Given the description of an element on the screen output the (x, y) to click on. 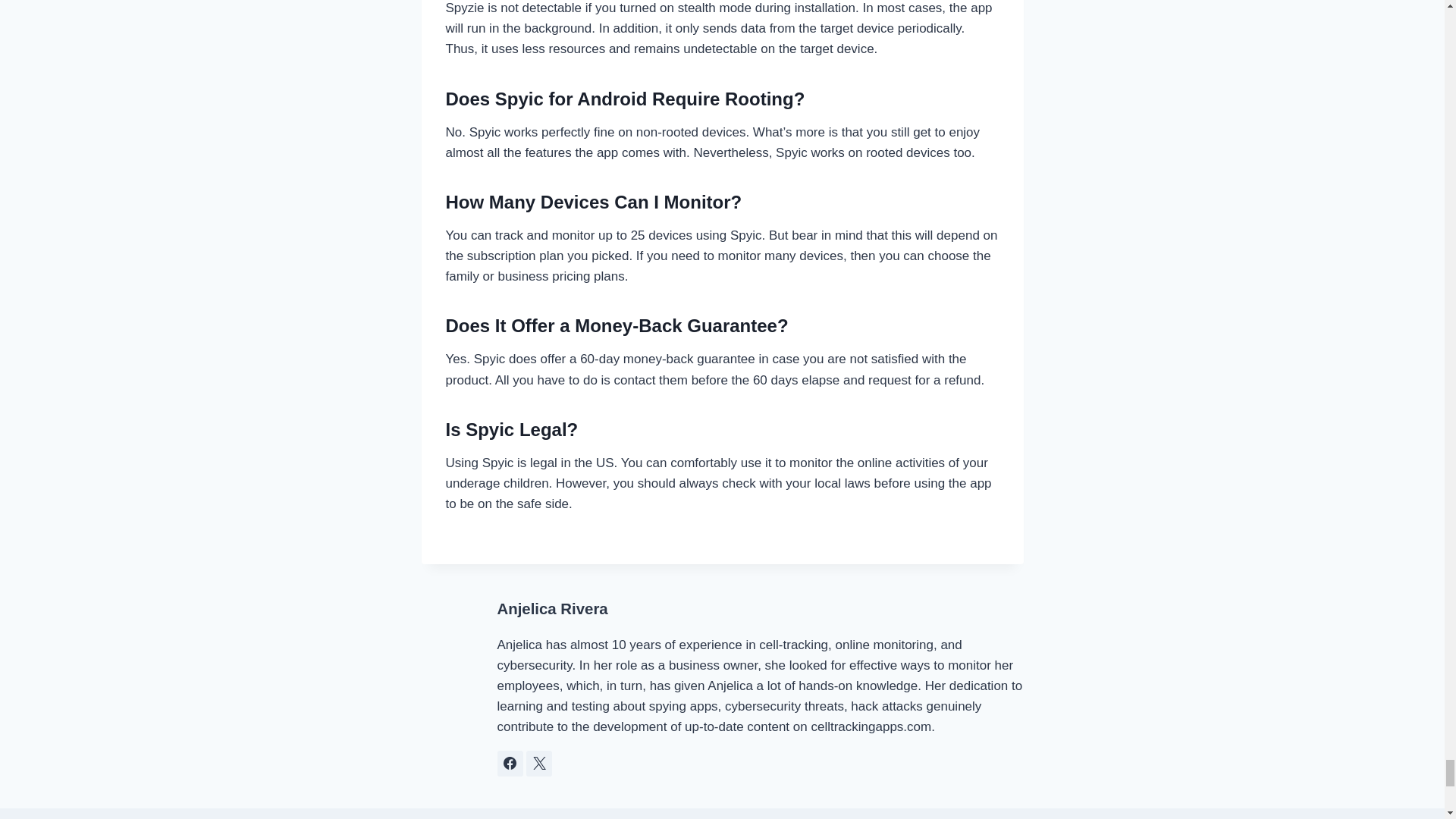
Follow Anjelica Rivera on X formerly Twitter (538, 763)
Follow Anjelica Rivera on Facebook (509, 763)
Posts by Anjelica Rivera (552, 608)
